Given the description of an element on the screen output the (x, y) to click on. 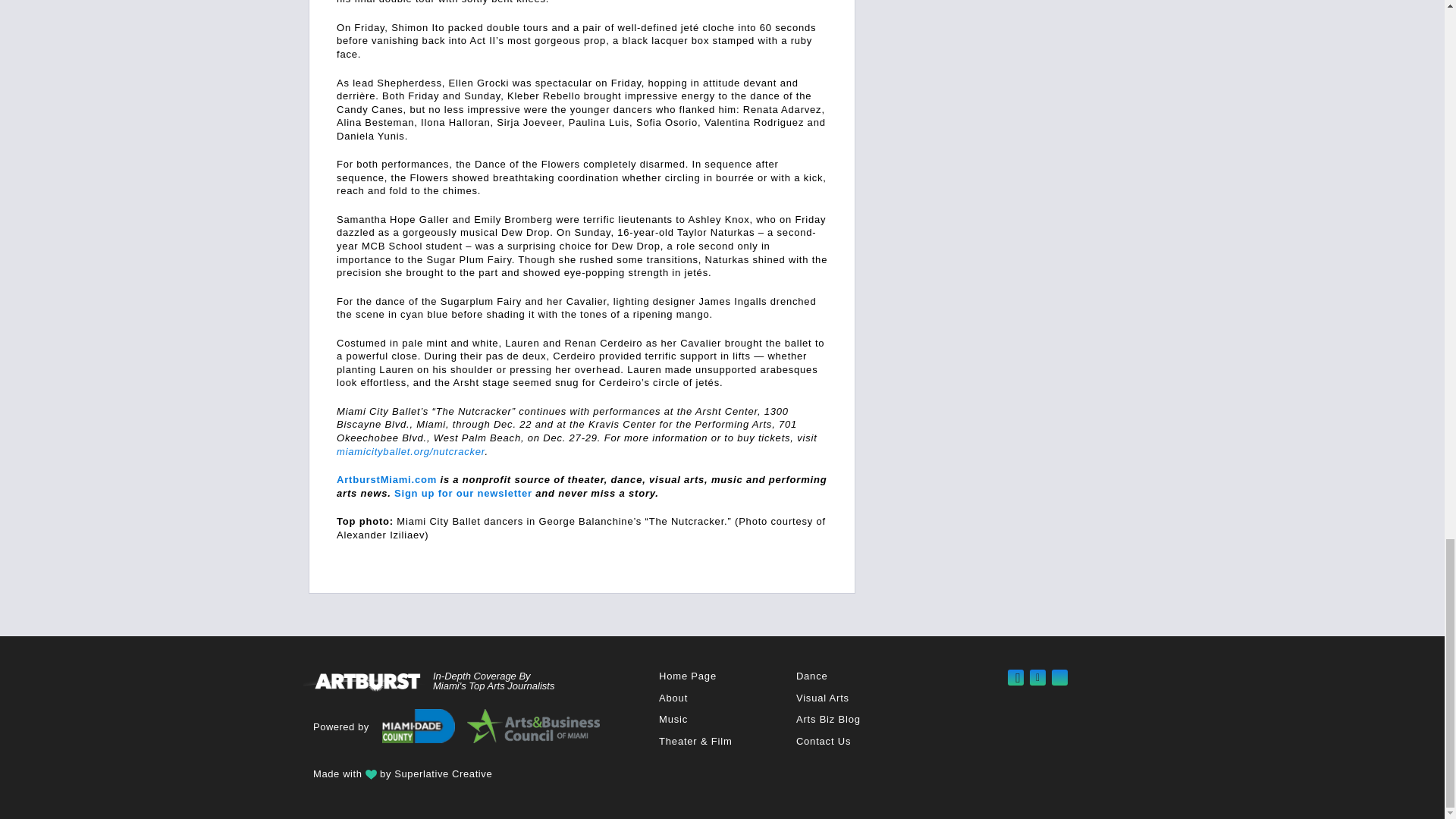
Music (673, 718)
Dance (812, 675)
ArtburstMiami.com (386, 479)
Home Page (687, 675)
Visual Arts (822, 697)
About (673, 697)
Arts Biz Blog (828, 718)
Contact Us (823, 740)
Sign up for our newsletter (463, 492)
